Given the description of an element on the screen output the (x, y) to click on. 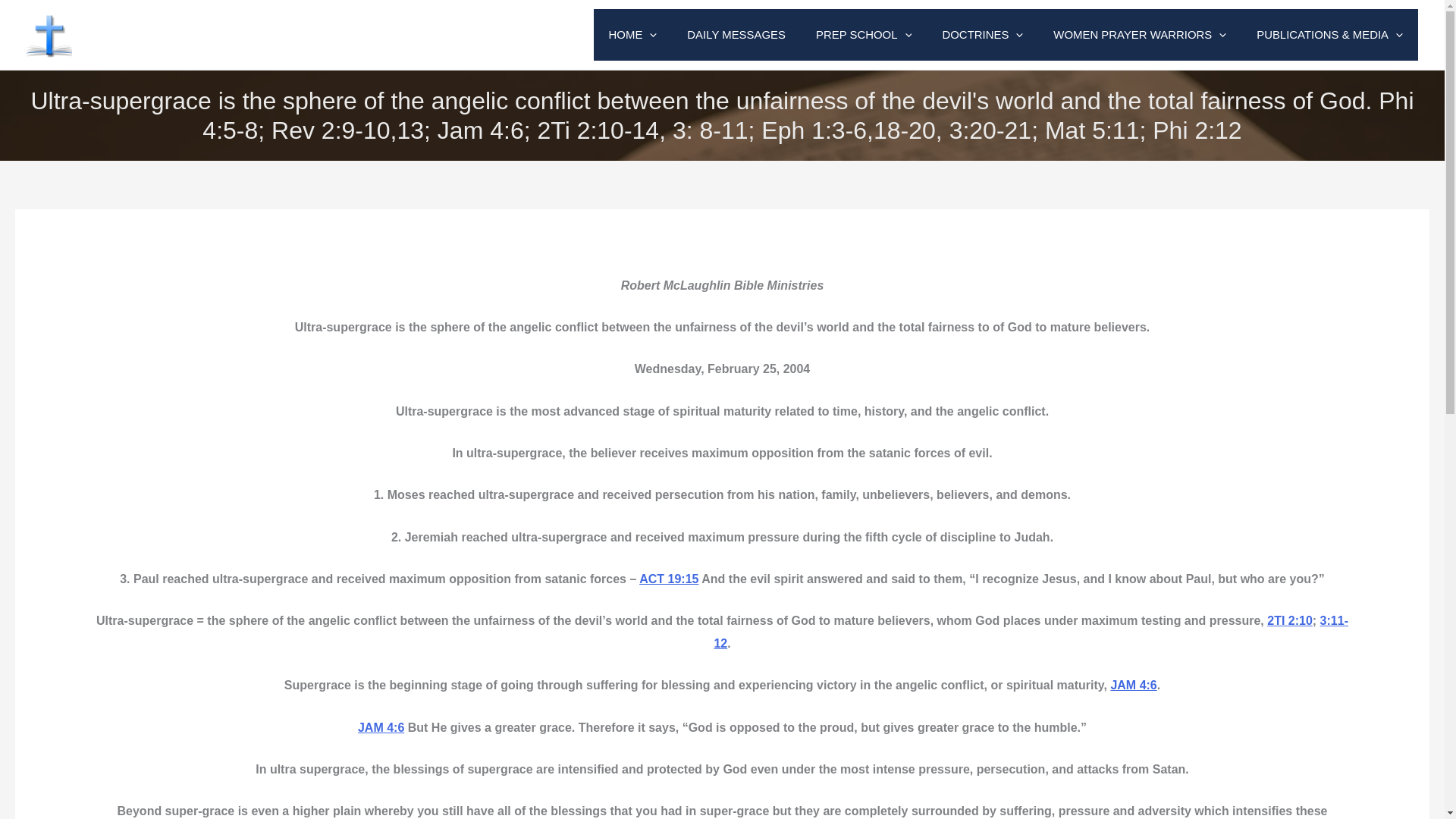
DOCTRINES (982, 34)
HOME (633, 34)
PREP SCHOOL (863, 34)
DAILY MESSAGES (735, 34)
WOMEN PRAYER WARRIORS (1139, 34)
